Given the description of an element on the screen output the (x, y) to click on. 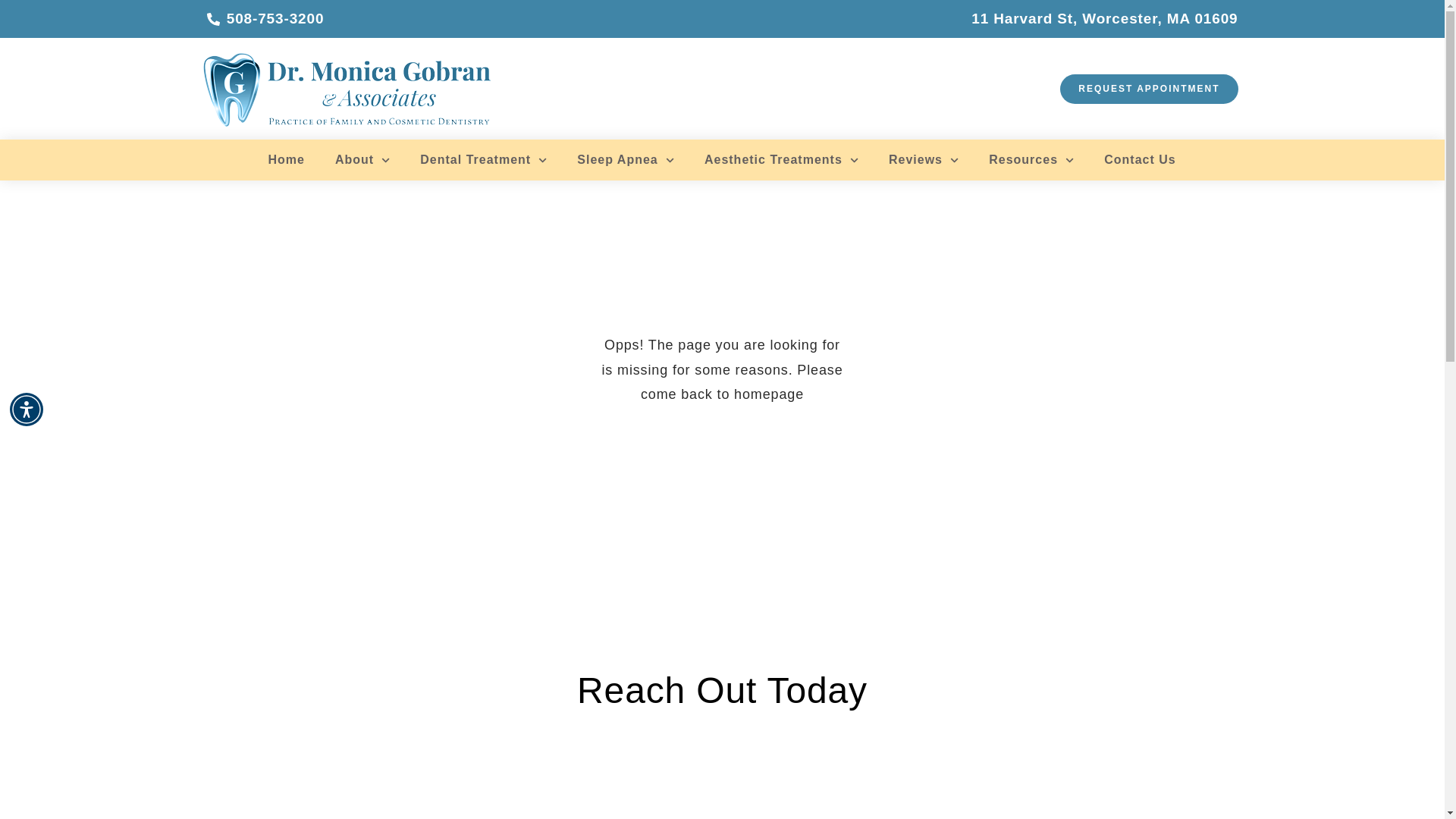
Accessibility Menu (26, 409)
508-753-3200 (264, 18)
